Given the description of an element on the screen output the (x, y) to click on. 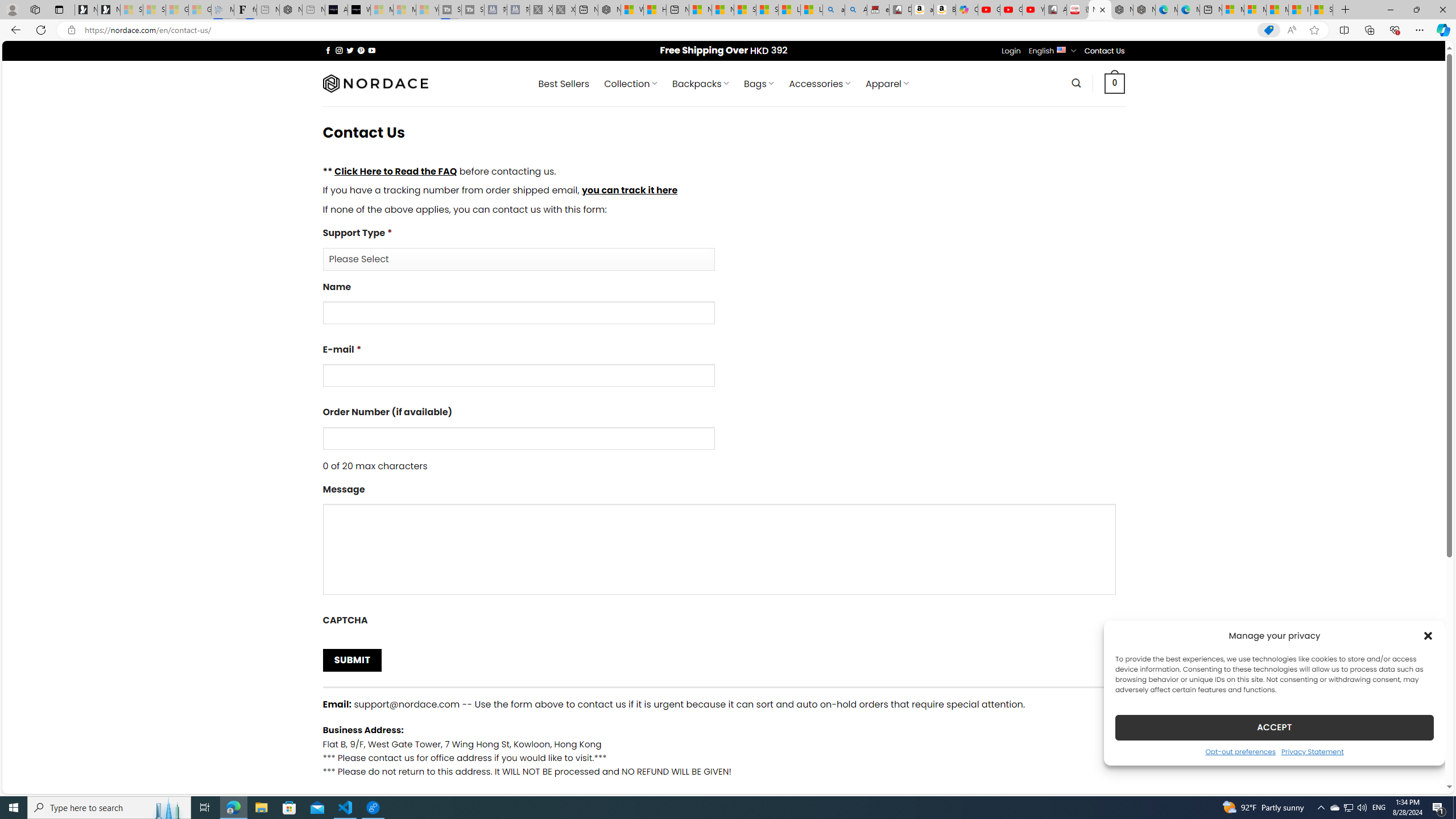
Opt-out preferences (1240, 750)
CAPTCHA (723, 621)
